Given the description of an element on the screen output the (x, y) to click on. 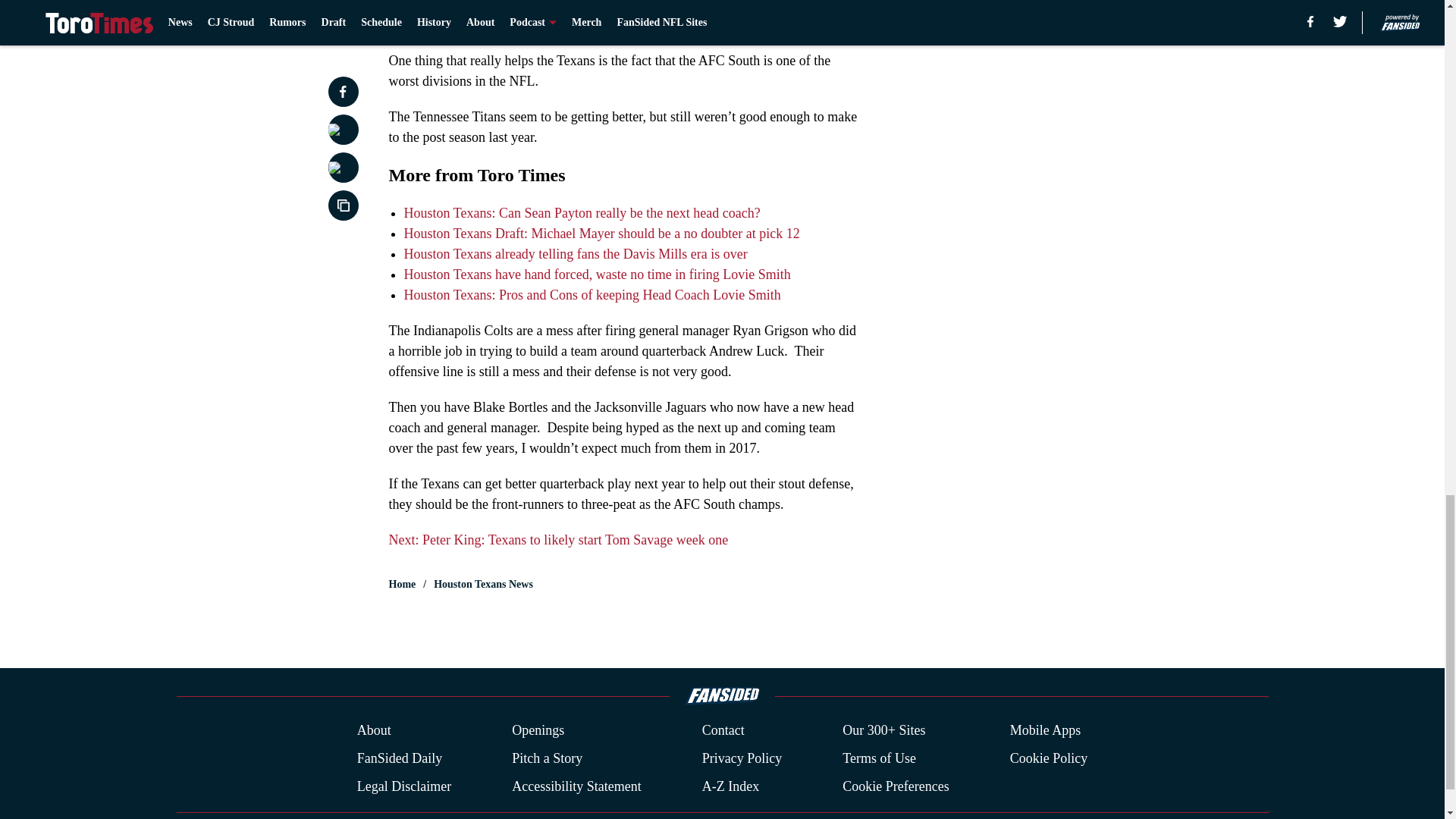
FanSided Daily (399, 758)
Next: Peter King: Texans to likely start Tom Savage week one (558, 539)
Pitch a Story (547, 758)
Contact (722, 730)
Privacy Policy (742, 758)
Mobile Apps (1045, 730)
